Given the description of an element on the screen output the (x, y) to click on. 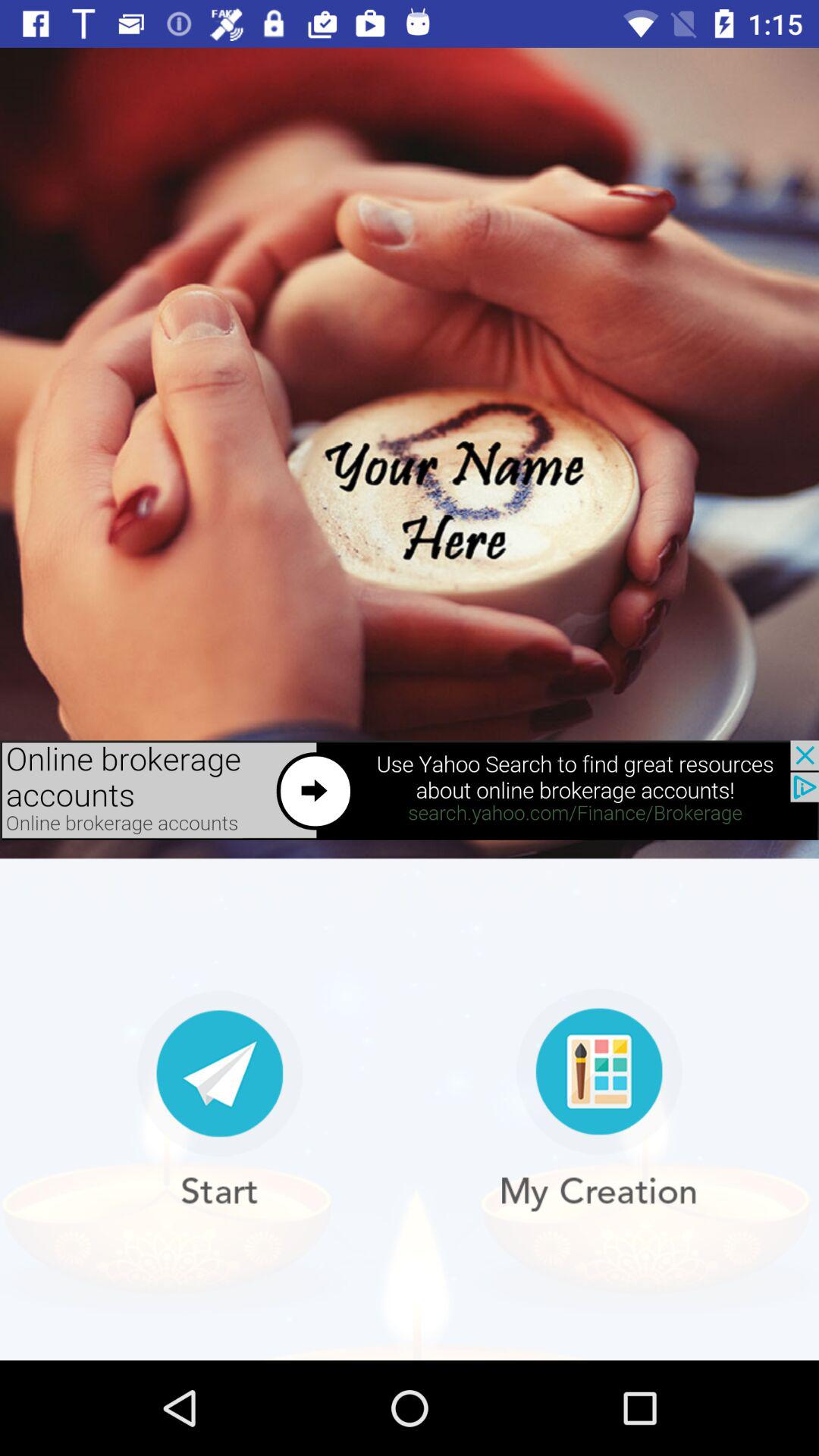
 (599, 1099)
